Given the description of an element on the screen output the (x, y) to click on. 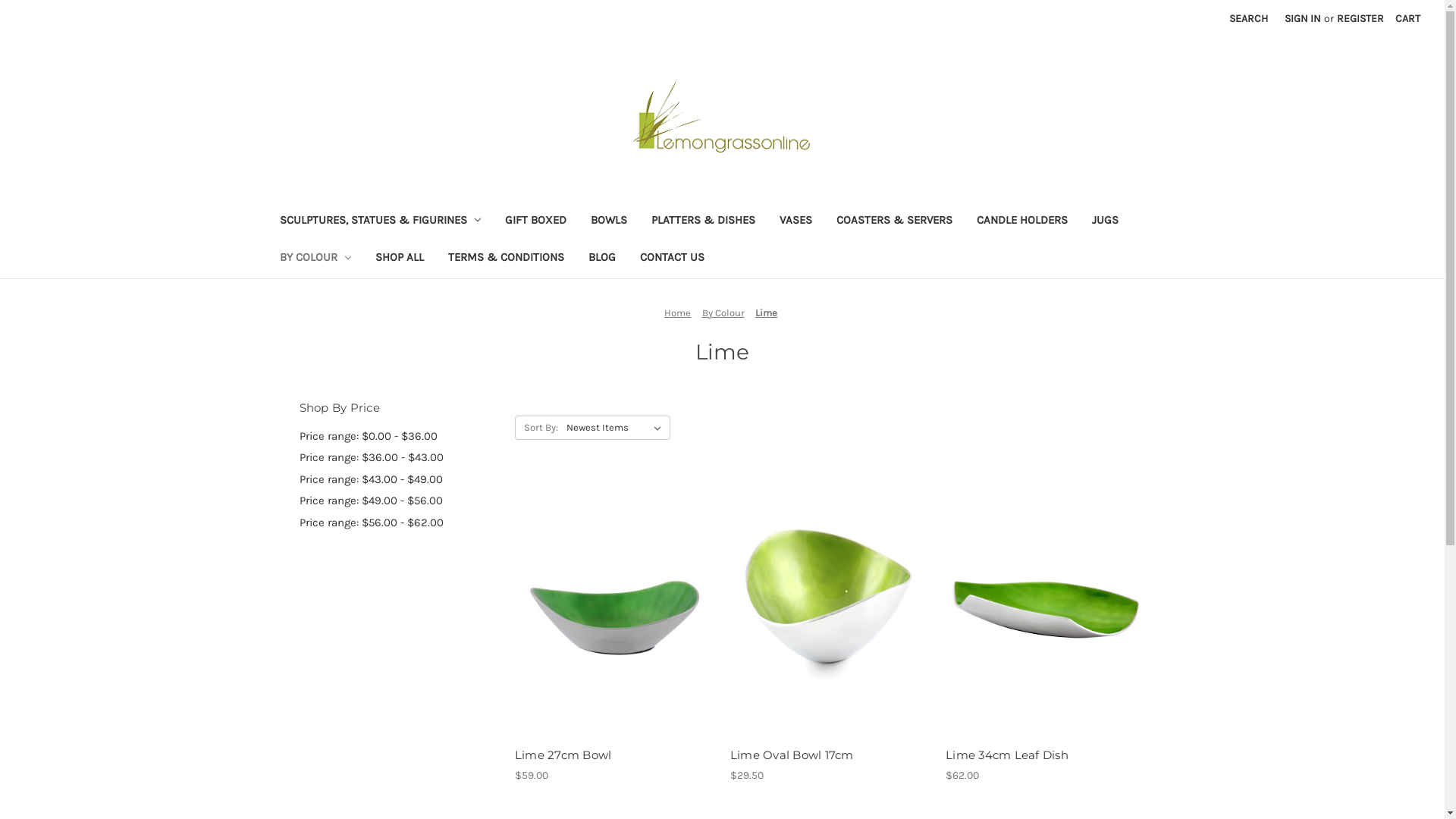
COASTERS & SERVERS Element type: text (894, 221)
By Colour Element type: text (723, 312)
Lime 34cm Leaf Dish Element type: text (1045, 755)
Lemongrassonline Element type: hover (722, 117)
Price range: $0.00 - $36.00 Element type: text (398, 436)
JUGS Element type: text (1104, 221)
PLATTERS & DISHES Element type: text (703, 221)
Price range: $49.00 - $56.00 Element type: text (398, 500)
Price range: $36.00 - $43.00 Element type: text (398, 457)
Lime 17cm Oval Bowl Element type: hover (829, 607)
Lime 27cm Bowl Element type: text (614, 755)
Lime Element type: text (766, 312)
Price range: $56.00 - $62.00 Element type: text (398, 522)
VASES Element type: text (795, 221)
TERMS & CONDITIONS Element type: text (506, 258)
CONTACT US Element type: text (671, 258)
Home Element type: text (677, 312)
Lime Oval Bowl 17cm Element type: text (829, 755)
SIGN IN Element type: text (1302, 18)
Lime 34cm Leaf Dish Element type: hover (1044, 607)
Price range: $43.00 - $49.00 Element type: text (398, 479)
SHOP ALL Element type: text (399, 258)
CANDLE HOLDERS Element type: text (1021, 221)
SCULPTURES, STATUES & FIGURINES Element type: text (379, 221)
REGISTER Element type: text (1360, 18)
BY COLOUR Element type: text (314, 258)
GIFT BOXED Element type: text (535, 221)
Lime 27cm Bowl Element type: hover (614, 607)
BLOG Element type: text (601, 258)
SEARCH Element type: text (1248, 18)
CART Element type: text (1407, 18)
BOWLS Element type: text (608, 221)
